Given the description of an element on the screen output the (x, y) to click on. 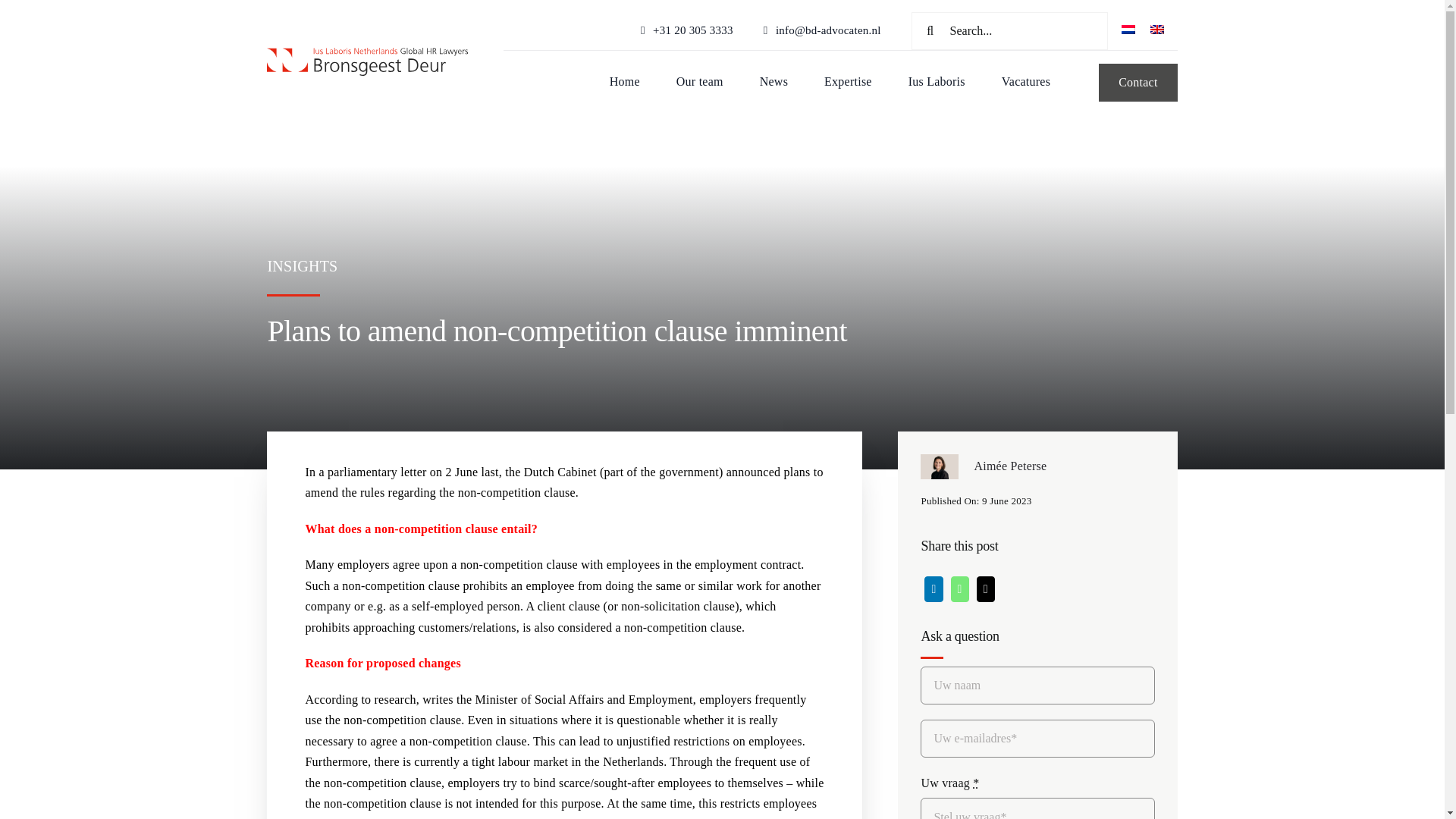
Contact (1137, 82)
Ius Laboris (936, 82)
Vacatures (1025, 82)
Our team (700, 82)
Expertise (848, 82)
